Given the description of an element on the screen output the (x, y) to click on. 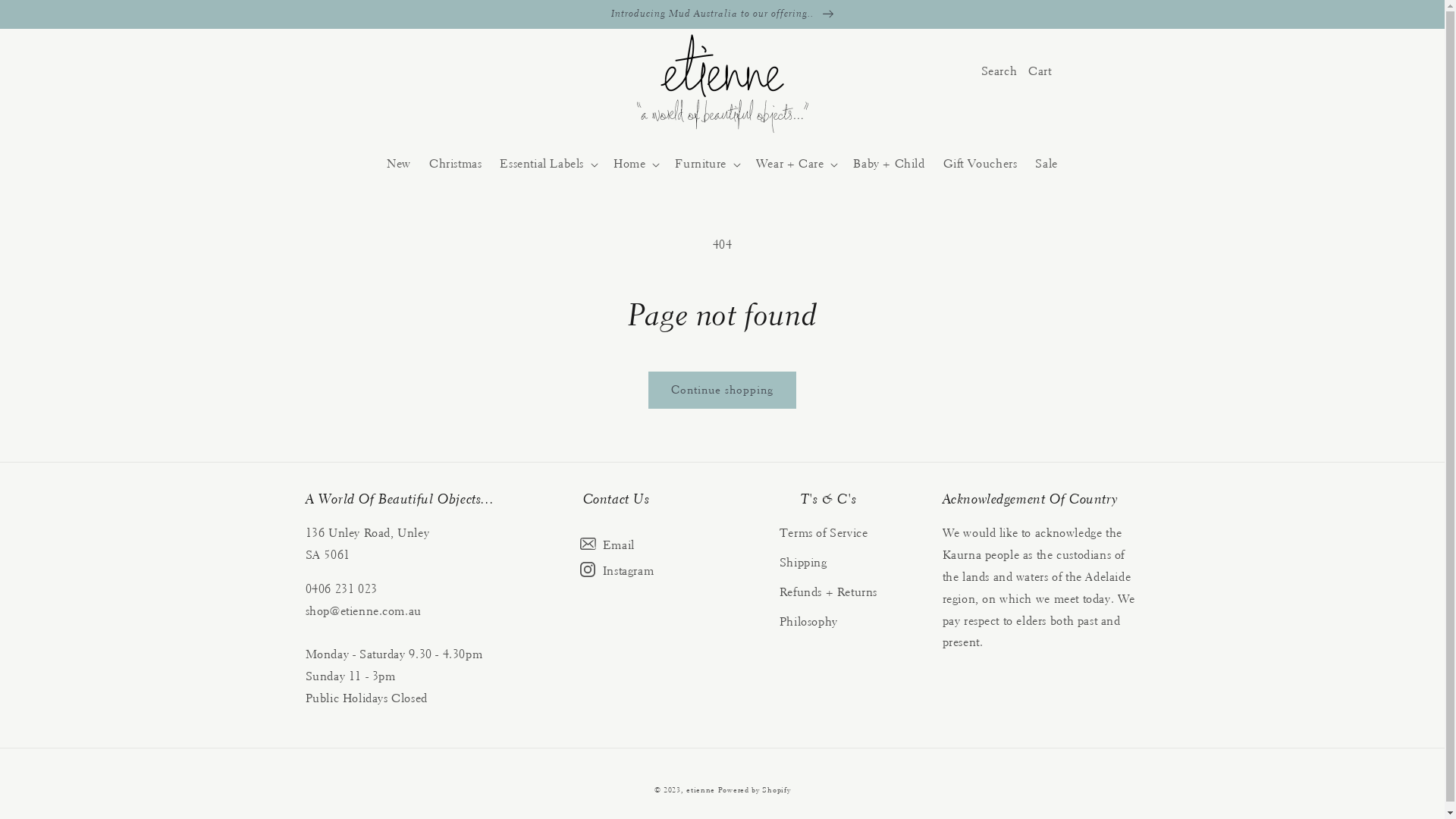
Gift Vouchers Element type: text (980, 164)
Baby + Child Element type: text (888, 164)
etienne Element type: text (702, 789)
Instagram Element type: text (615, 573)
Introducing Mud Australia to our offering.. Element type: text (722, 14)
Shipping Element type: text (803, 562)
Sale Element type: text (1046, 164)
Cart Element type: text (1040, 70)
Refunds + Returns Element type: text (828, 592)
Terms of Service Element type: text (823, 535)
Philosophy Element type: text (808, 622)
Christmas Element type: text (455, 164)
Powered by Shopify Element type: text (754, 789)
Continue shopping Element type: text (722, 389)
New Element type: text (398, 164)
Email Element type: text (615, 547)
